Given the description of an element on the screen output the (x, y) to click on. 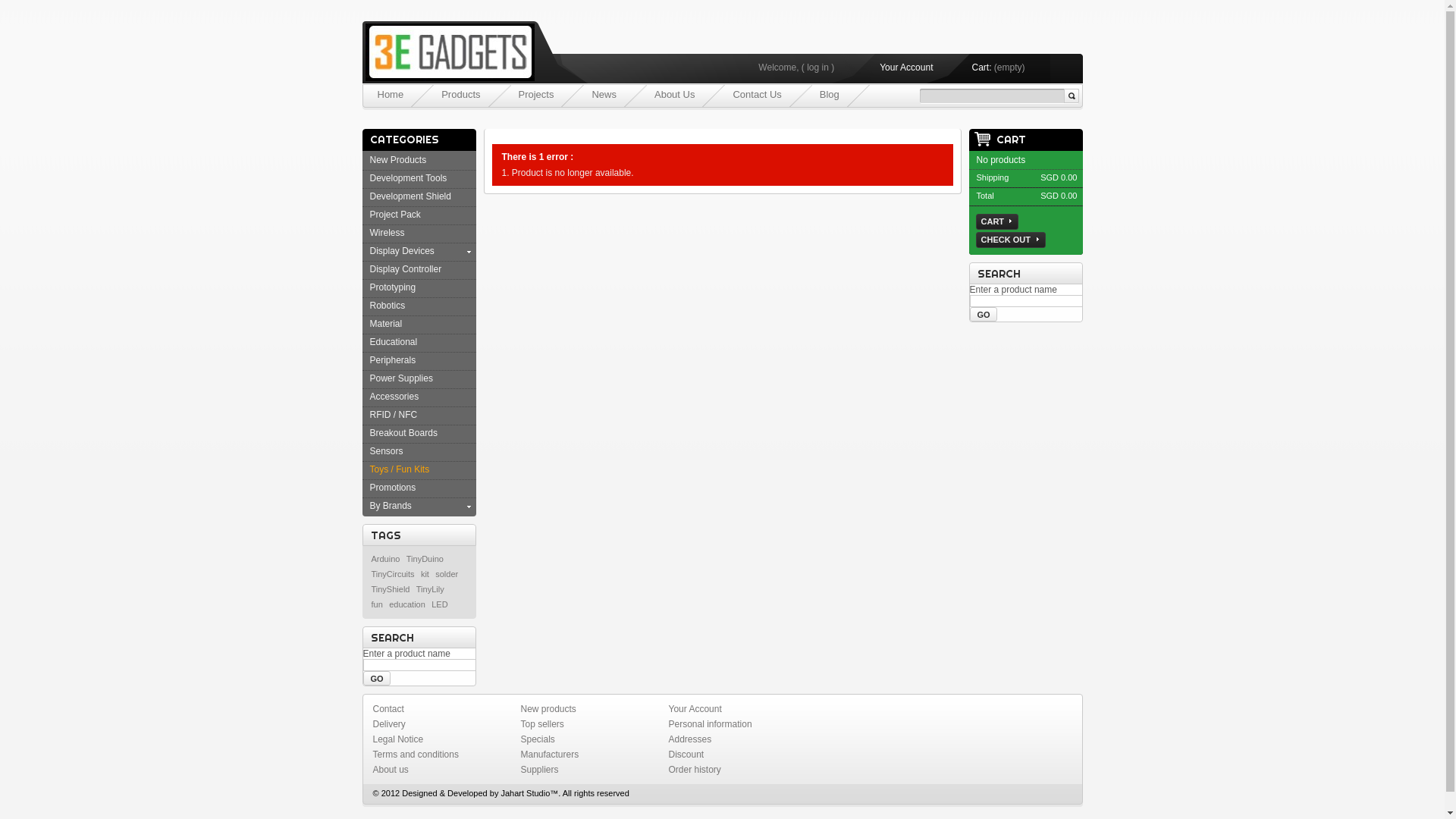
Sensors Element type: text (386, 450)
Products Element type: text (460, 94)
Accessories Element type: text (394, 396)
TinyShield Element type: text (390, 588)
Educational Element type: text (393, 341)
Display Controller Element type: text (405, 268)
Development Shield Element type: text (410, 196)
Cart: Element type: text (981, 67)
TinyDuino Element type: text (424, 558)
Contact Element type: text (388, 708)
CART Element type: text (999, 138)
Blog Element type: text (829, 94)
Project Pack Element type: text (395, 214)
Promotions Element type: text (392, 487)
Addresses Element type: text (690, 739)
Contact Us Element type: text (756, 94)
Singapore - 3E Gadgets Pte Ltd Element type: hover (444, 39)
education Element type: text (407, 603)
News Element type: text (603, 94)
Prototyping Element type: text (392, 287)
Material Element type: text (386, 323)
Your Account Element type: text (905, 67)
Terms and conditions Element type: text (415, 754)
Toys / Fun Kits Element type: text (399, 469)
Wireless Element type: text (387, 232)
log in Element type: text (817, 67)
Discount Element type: text (686, 754)
Peripherals Element type: text (392, 359)
CHECK OUT Element type: text (1009, 239)
fun Element type: text (376, 603)
LED Element type: text (439, 603)
TinyCircuits Element type: text (392, 573)
About us Element type: text (390, 769)
Development Tools Element type: text (408, 177)
go Element type: text (982, 314)
Home Element type: text (390, 94)
TinyLily Element type: text (430, 588)
Your Account Element type: text (694, 708)
Top sellers Element type: text (541, 723)
Power Supplies Element type: text (401, 378)
Suppliers Element type: text (539, 769)
solder Element type: text (446, 573)
Go! Element type: text (1070, 95)
New products Element type: text (547, 708)
Specials Element type: text (537, 739)
Display Devices Element type: text (402, 250)
Manufacturers Element type: text (549, 754)
Legal Notice Element type: text (398, 739)
New Products Element type: text (398, 159)
Breakout Boards Element type: text (403, 432)
Jahart Studio Element type: text (524, 792)
By Brands Element type: text (390, 505)
Order history Element type: text (694, 769)
Delivery Element type: text (389, 723)
kit Element type: text (424, 573)
CART Element type: text (996, 221)
Robotics Element type: text (387, 305)
About Us Element type: text (674, 94)
RFID / NFC Element type: text (393, 414)
Projects Element type: text (536, 94)
Arduino Element type: text (385, 558)
go Element type: text (375, 678)
Personal information Element type: text (710, 723)
